Given the description of an element on the screen output the (x, y) to click on. 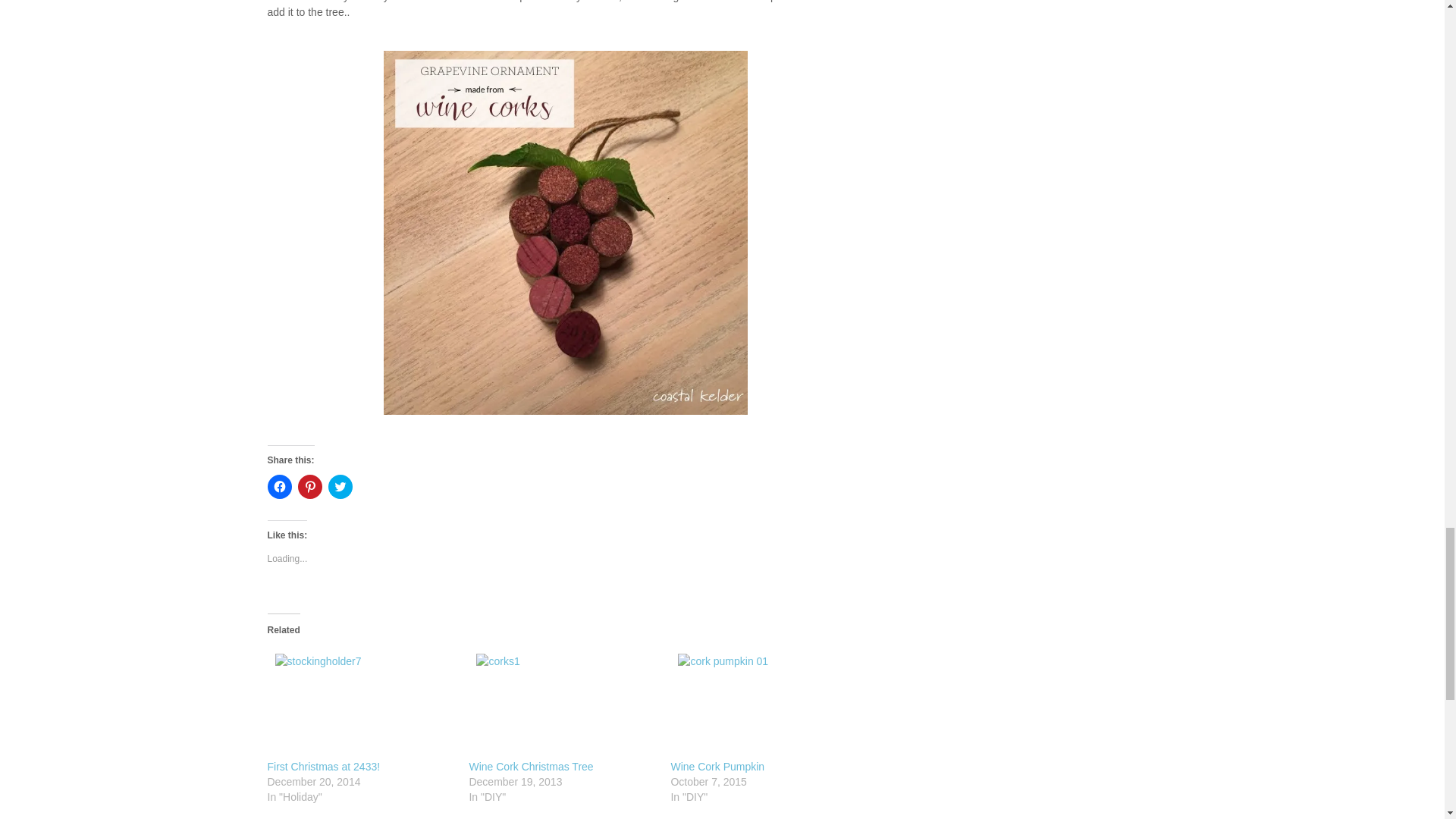
Wine Cork Christmas Tree (561, 702)
First Christmas at 2433! (359, 702)
Click to share on Pinterest (309, 486)
Click to share on Facebook (278, 486)
Wine Cork Pumpkin (716, 766)
Wine Cork Pumpkin (763, 702)
Wine Cork Pumpkin (716, 766)
First Christmas at 2433! (323, 766)
Wine Cork Christmas Tree (530, 766)
Click to share on Twitter (339, 486)
First Christmas at 2433! (323, 766)
Wine Cork Christmas Tree (530, 766)
